Given the description of an element on the screen output the (x, y) to click on. 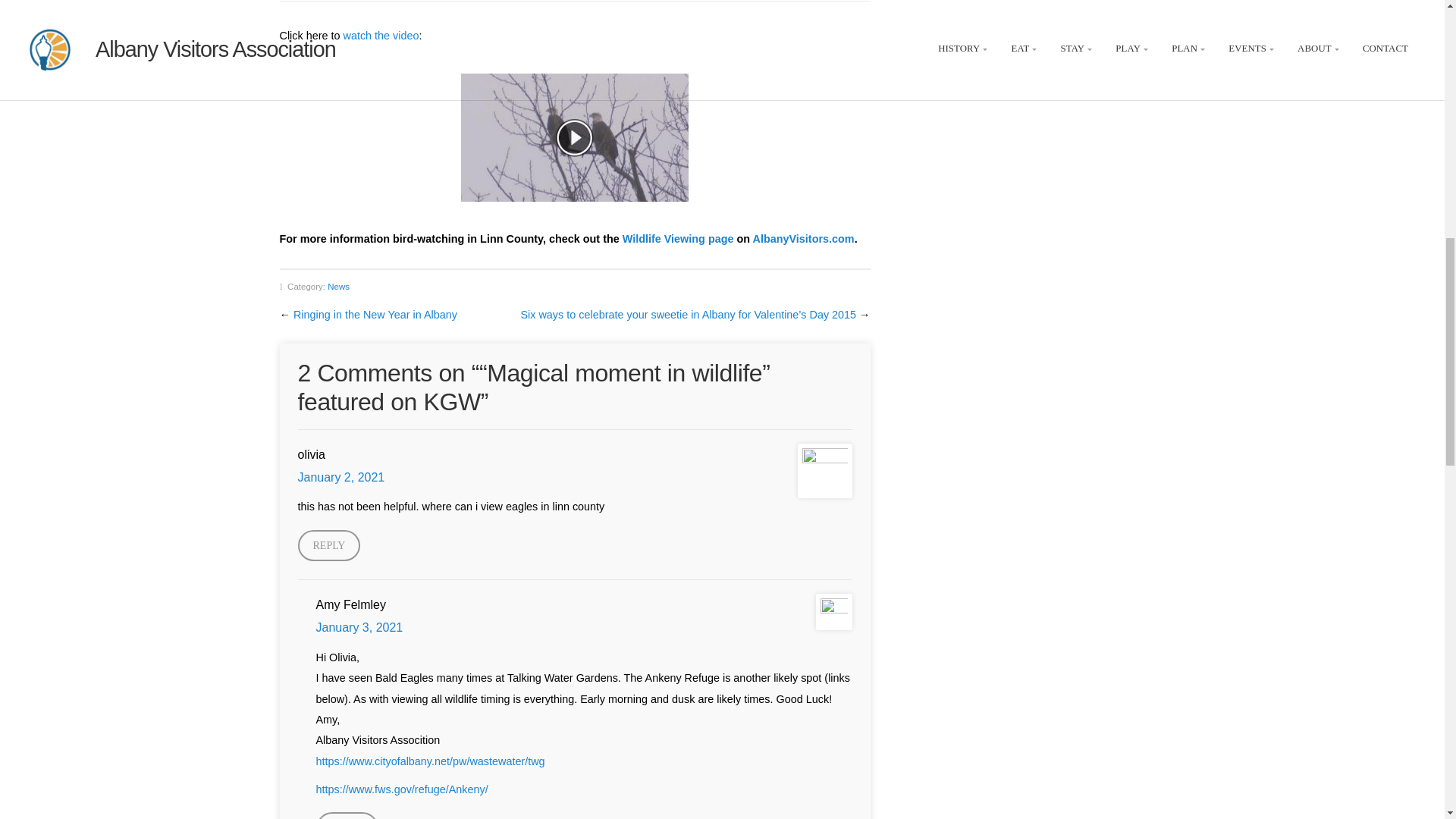
Wildlife viewing in Albany, Oregon (678, 238)
Grant's Getaway's Linn County Oregon Wildlife Video (380, 35)
Albany Visitors Association (803, 238)
